Given the description of an element on the screen output the (x, y) to click on. 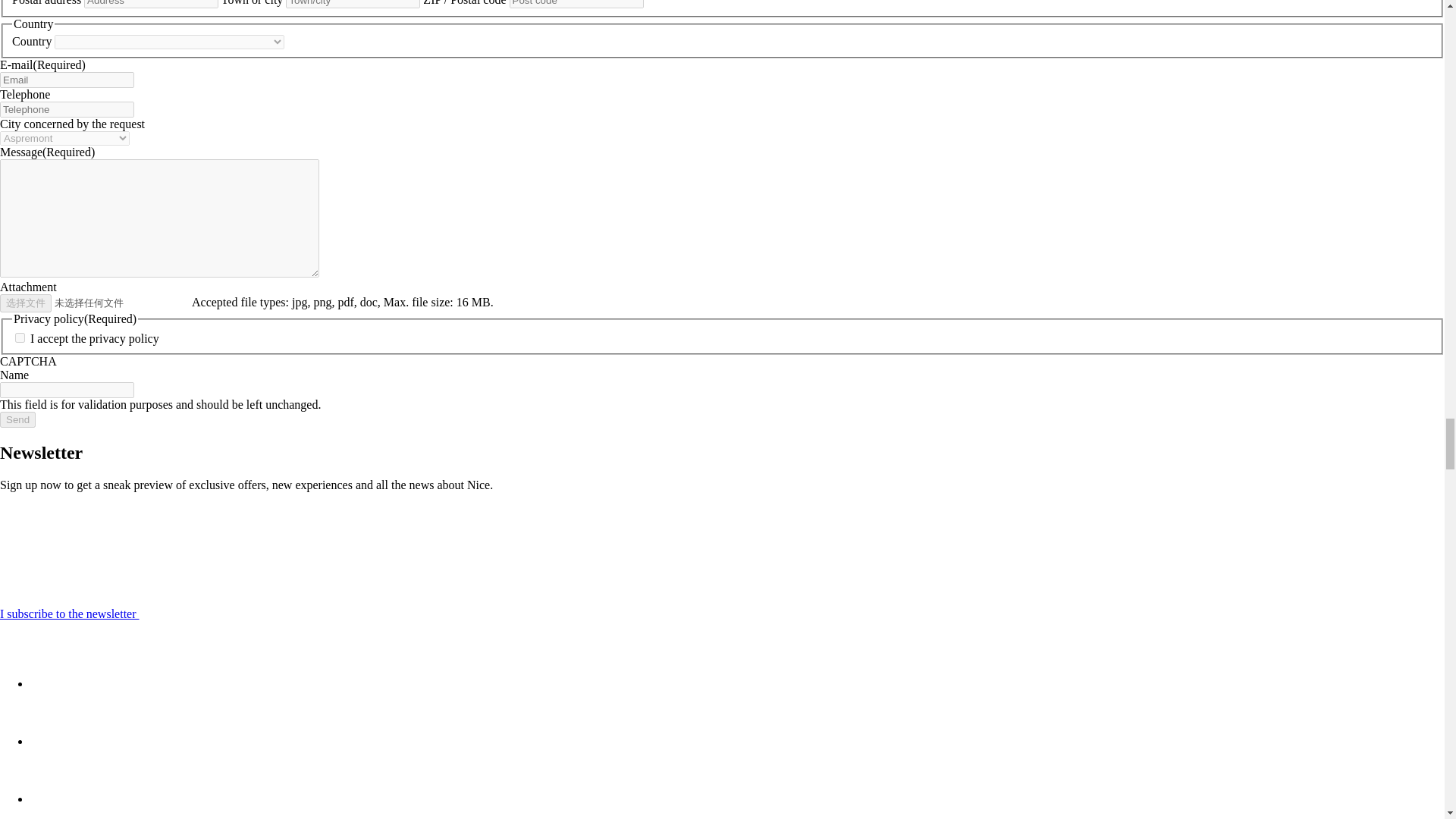
1 (19, 337)
Send (17, 419)
